Given the description of an element on the screen output the (x, y) to click on. 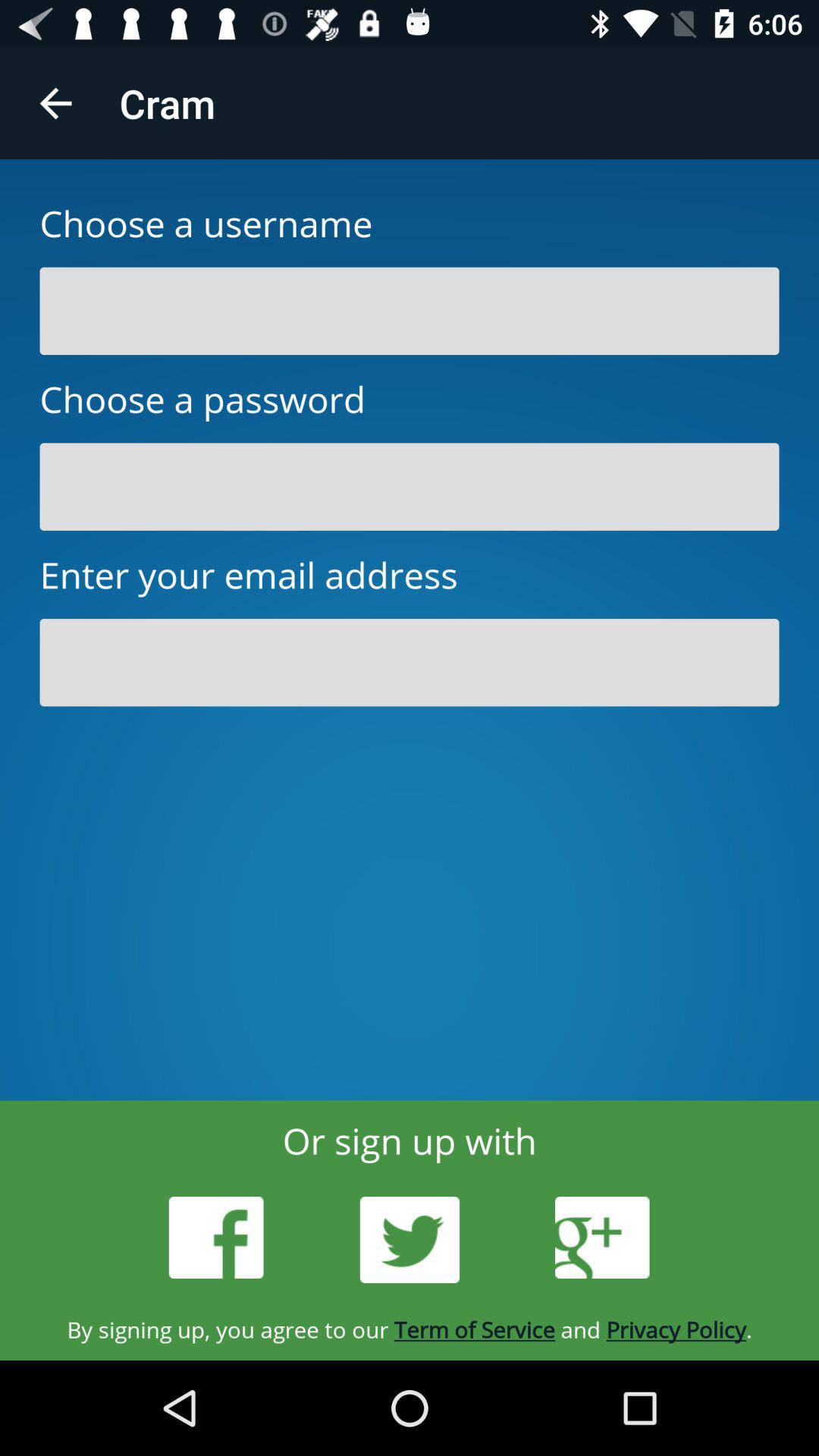
google plus link (602, 1237)
